Given the description of an element on the screen output the (x, y) to click on. 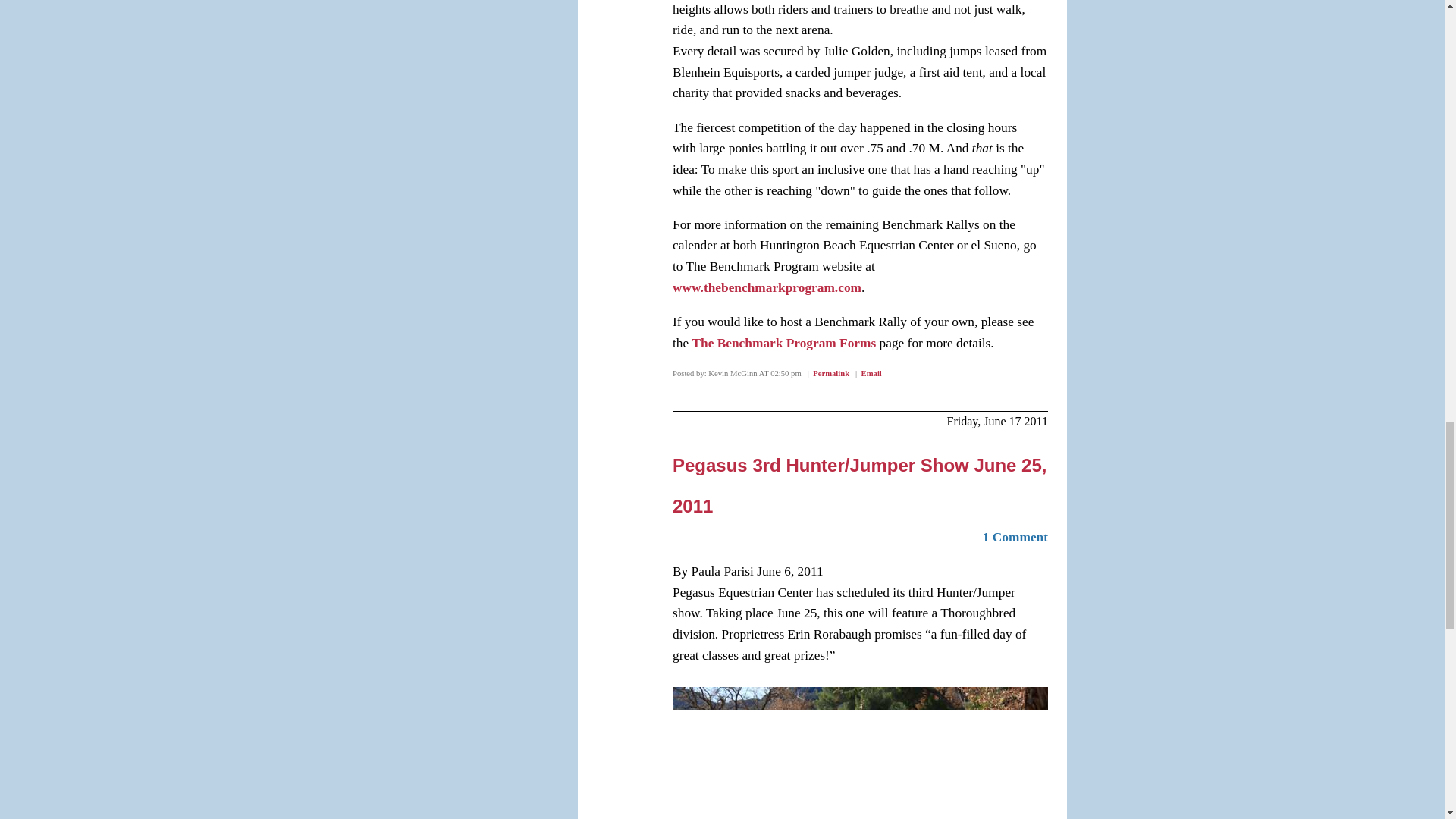
The Benchmark Program Forms (786, 342)
1 Comment (1015, 536)
www.thebenchmarkprogram.com (766, 287)
Permalink (830, 373)
Email (871, 373)
